Given the description of an element on the screen output the (x, y) to click on. 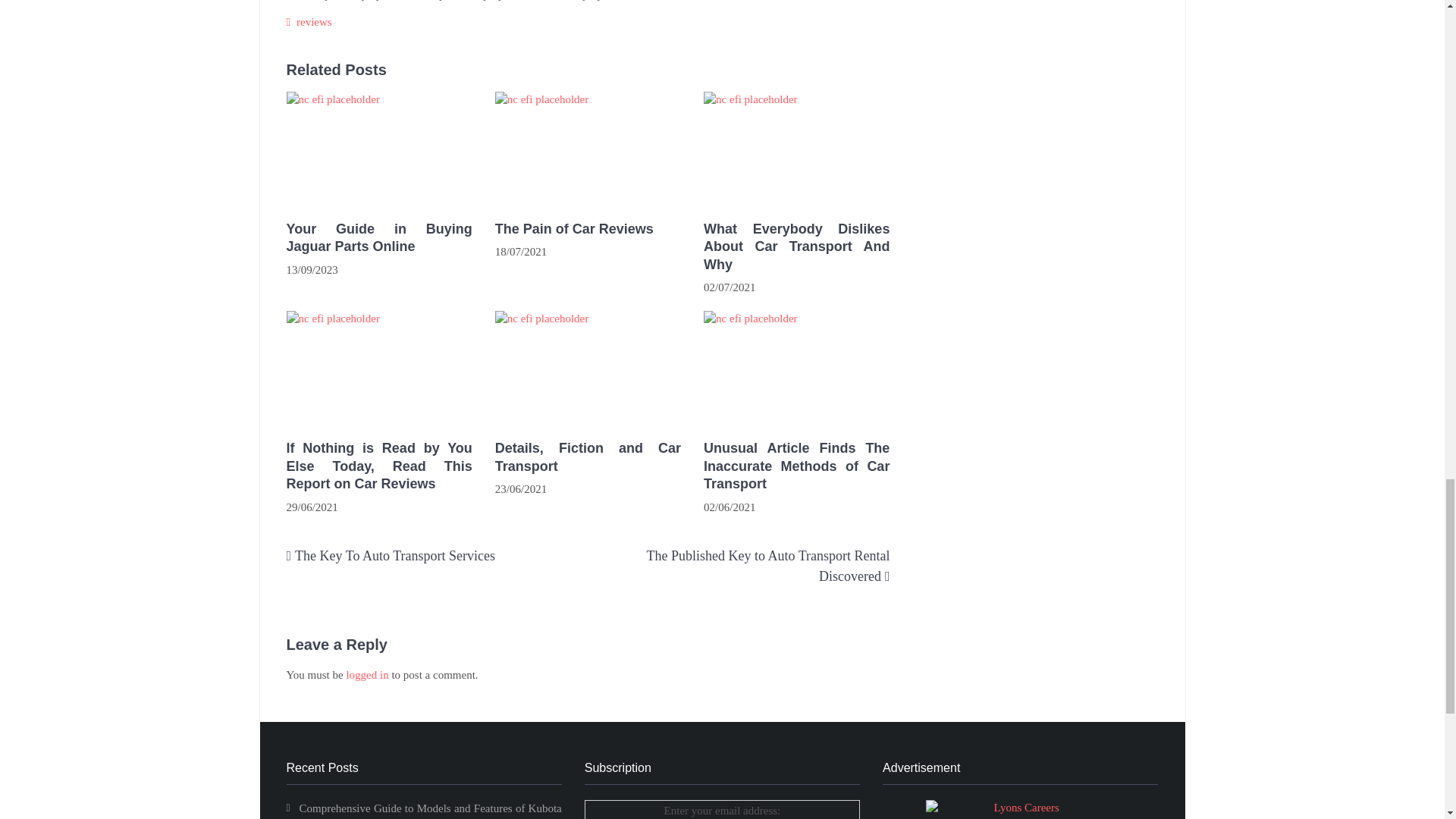
What Everybody Dislikes About Car Transport And Why (796, 148)
The Pain of Car Reviews (588, 148)
The Key To Auto Transport Services (395, 555)
Details, Fiction and Car Transport (588, 457)
Your Guide in Buying Jaguar Parts Online (378, 148)
Your Guide in Buying Jaguar Parts Online (378, 238)
reviews (314, 21)
What Everybody Dislikes About Car Transport And Why (796, 246)
The Pain of Car Reviews (588, 229)
logged in (367, 674)
The Published Key to Auto Transport Rental Discovered (767, 565)
